Given the description of an element on the screen output the (x, y) to click on. 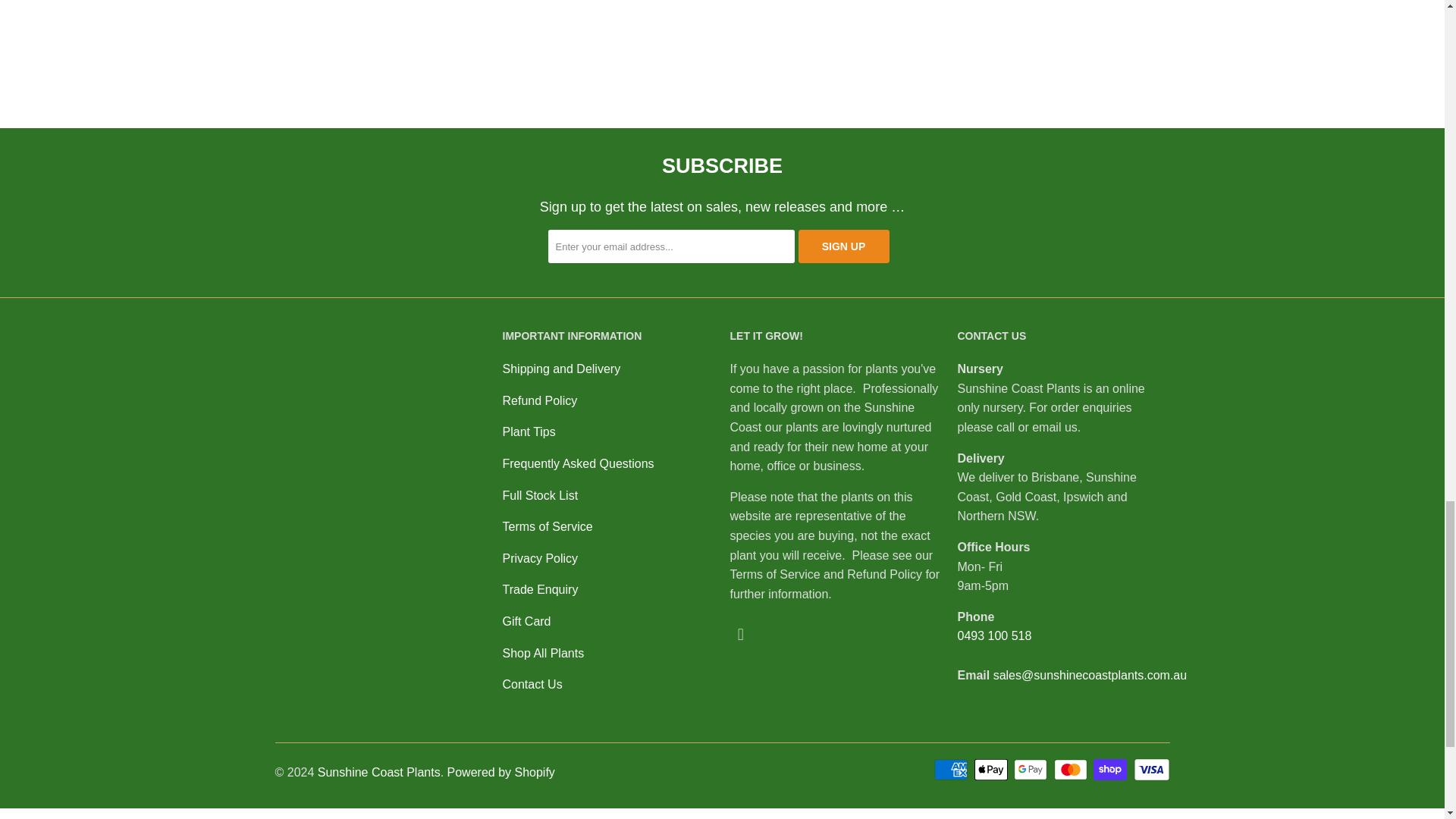
tel:0493 100 518 (993, 635)
Mastercard (1072, 769)
Apple Pay (992, 769)
American Express (952, 769)
Google Pay (1031, 769)
Visa (1150, 769)
Sunshine Coast Plants on Facebook (740, 634)
Sign Up (842, 246)
Shop Pay (1111, 769)
